Given the description of an element on the screen output the (x, y) to click on. 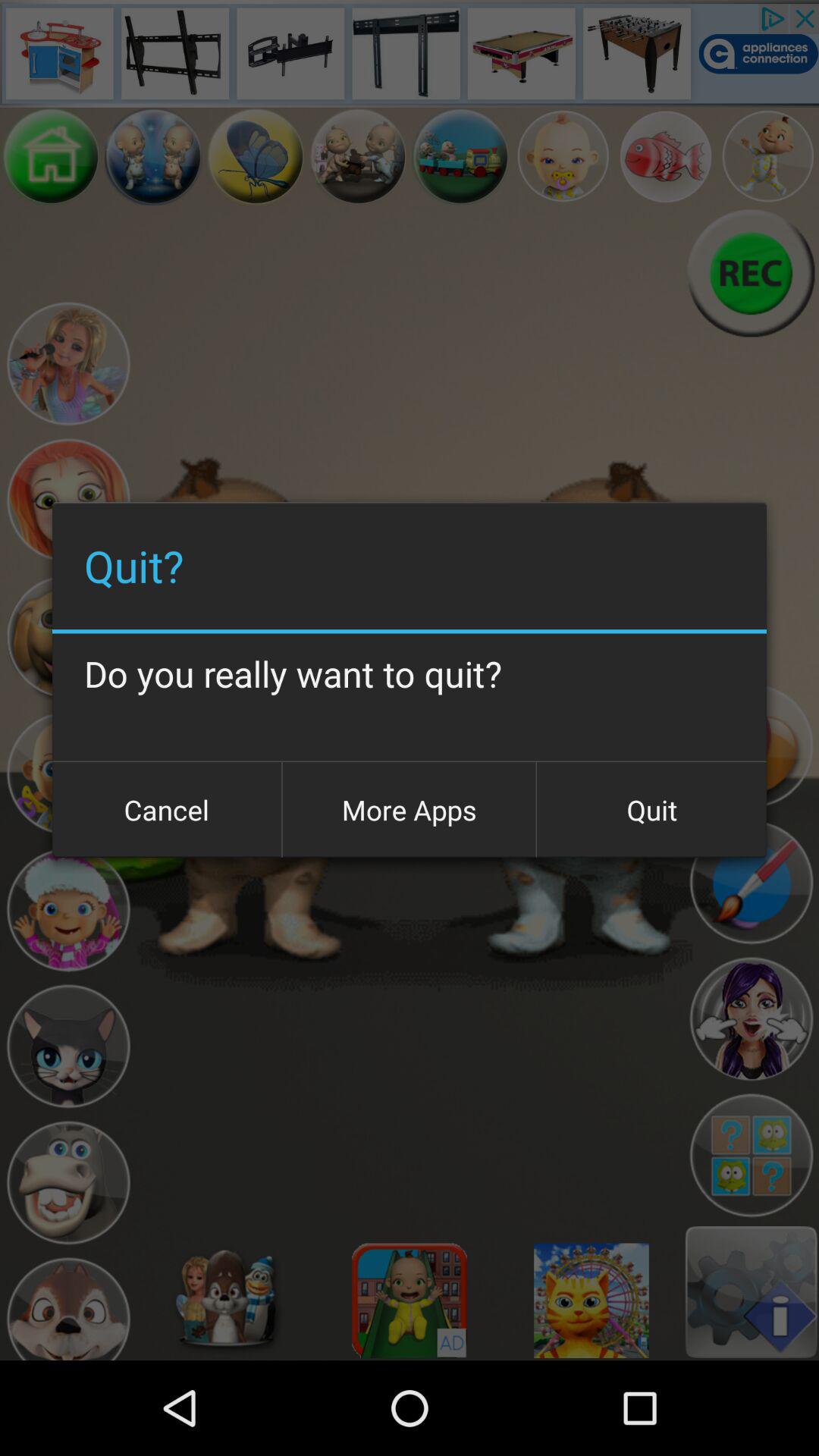
choose avatar (409, 1300)
